Given the description of an element on the screen output the (x, y) to click on. 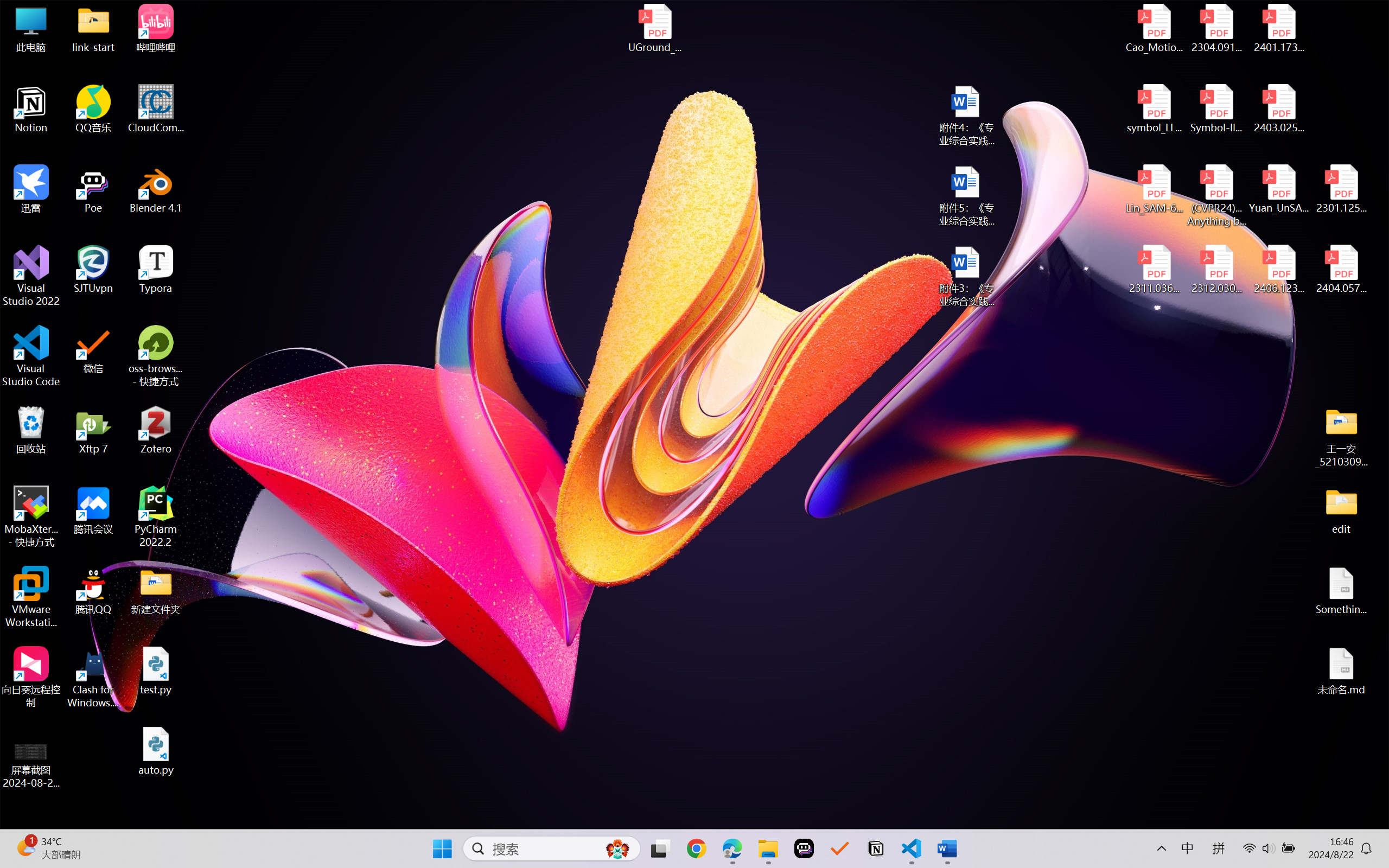
edit (1340, 510)
2312.03032v2.pdf (1216, 269)
UGround_paper.pdf (654, 28)
2403.02502v1.pdf (1278, 109)
2404.05719v1.pdf (1340, 269)
